Given the description of an element on the screen output the (x, y) to click on. 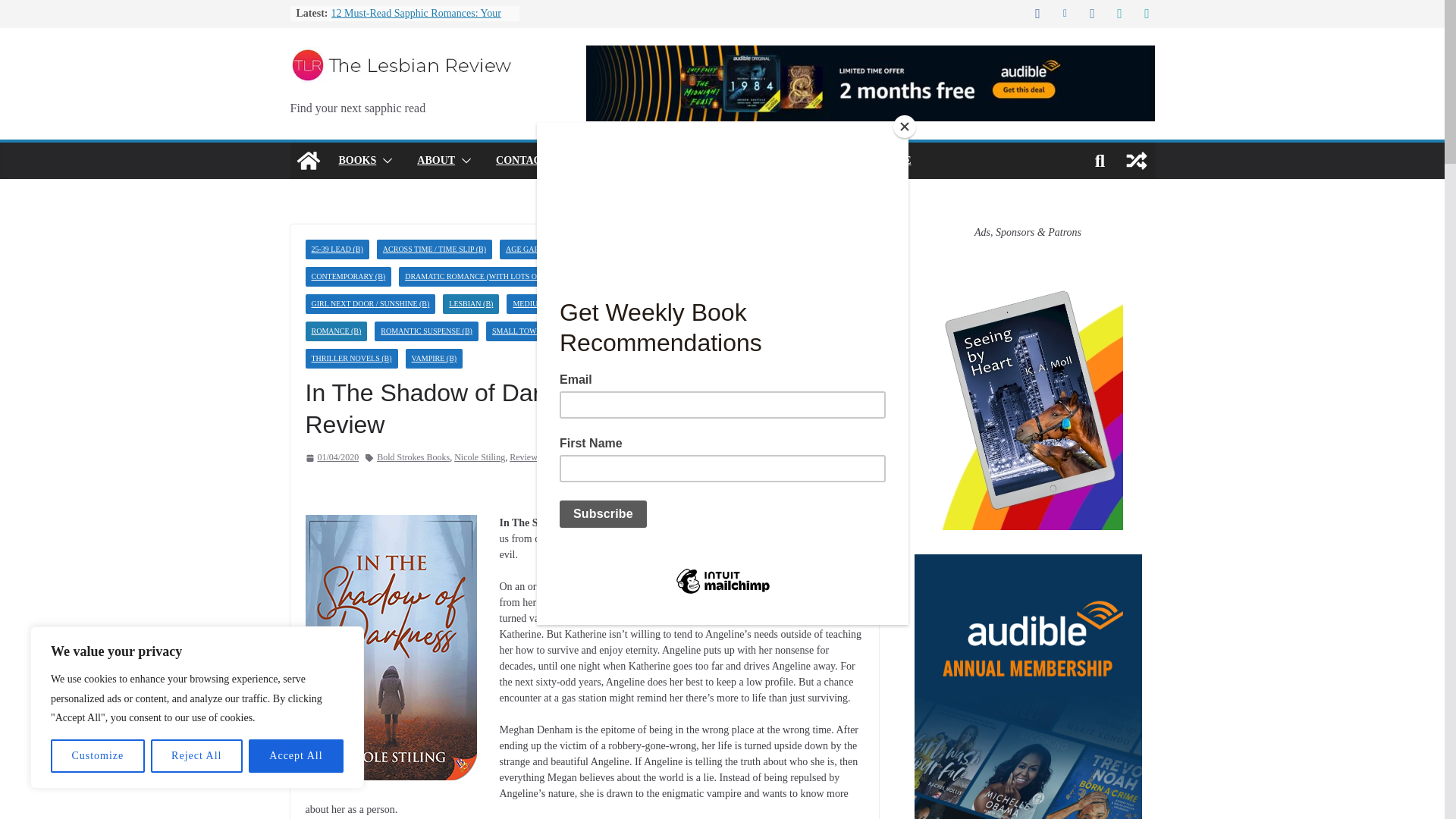
Accept All (295, 756)
The Lesbian Review (307, 160)
View a random post (1136, 160)
Customize (97, 756)
12 Must-Read Sapphic Romances: Your Summer Reading List (415, 20)
12:00 am (331, 457)
BOOKS (356, 160)
Reject All (197, 756)
12 Must-Read Sapphic Romances: Your Summer Reading List (415, 20)
